Given the description of an element on the screen output the (x, y) to click on. 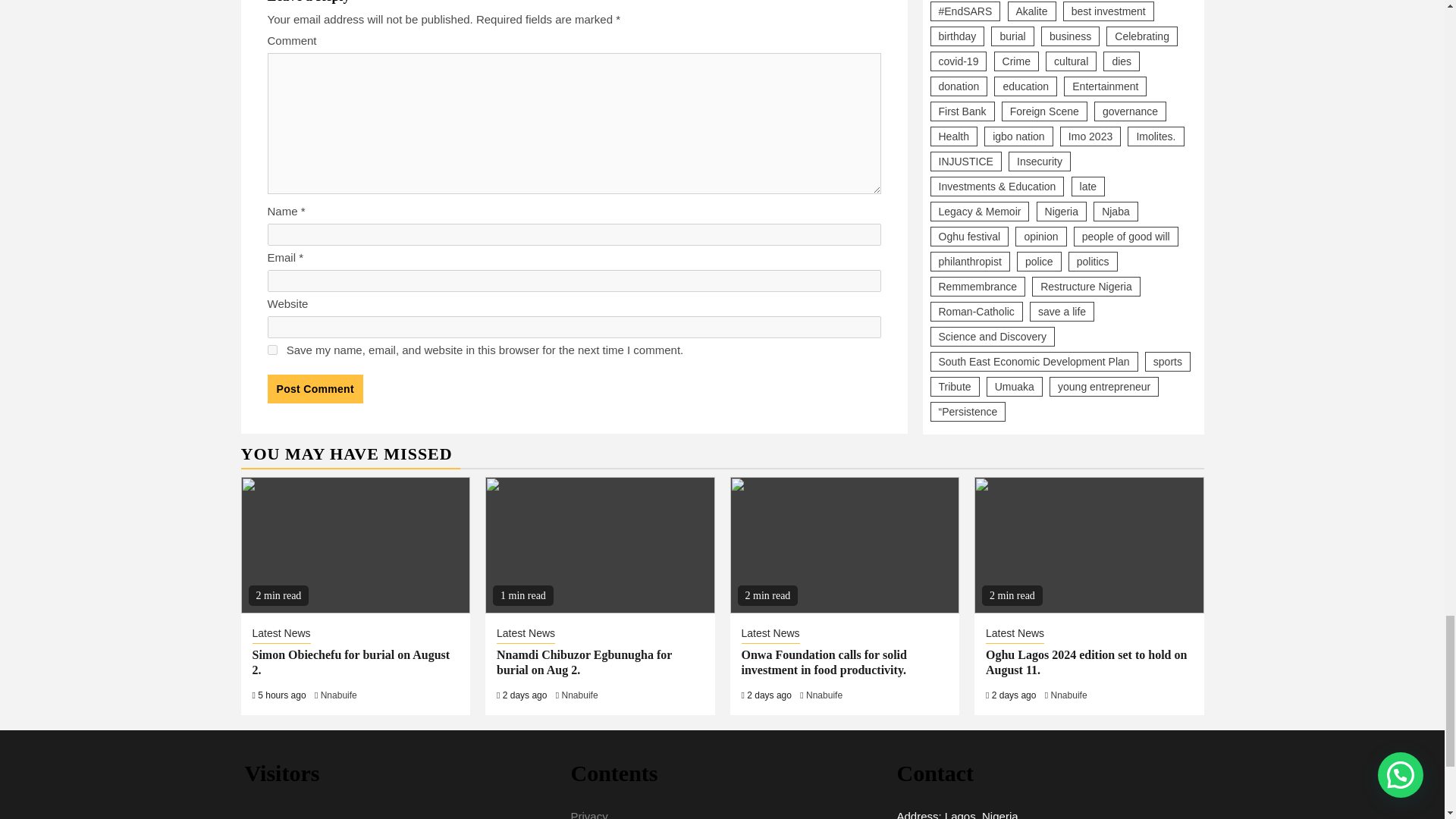
Post Comment (314, 388)
yes (271, 349)
